Given the description of an element on the screen output the (x, y) to click on. 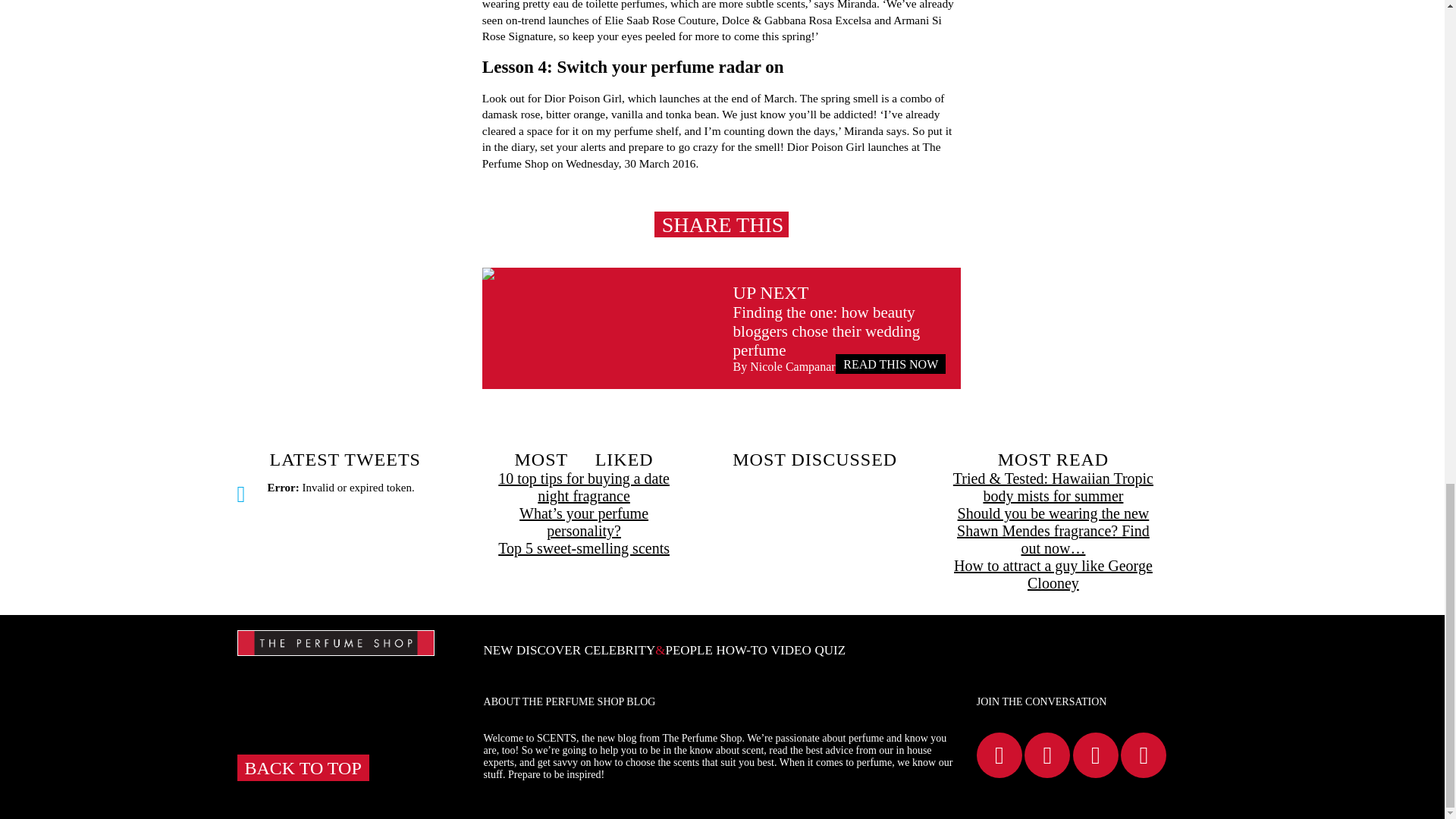
NEW (498, 649)
DISCOVER (548, 649)
10 top tips for buying a date night fragrance (583, 487)
VIDEO (790, 649)
How to attract a guy like George Clooney (1052, 574)
Top 5 sweet-smelling scents (583, 548)
QUIZ (829, 649)
Top 5 sweet-smelling scents (583, 548)
How to attract a guy like George Clooney (1052, 574)
HOW-TO (741, 649)
10 top tips for buying a date night fragrance (583, 487)
